Given the description of an element on the screen output the (x, y) to click on. 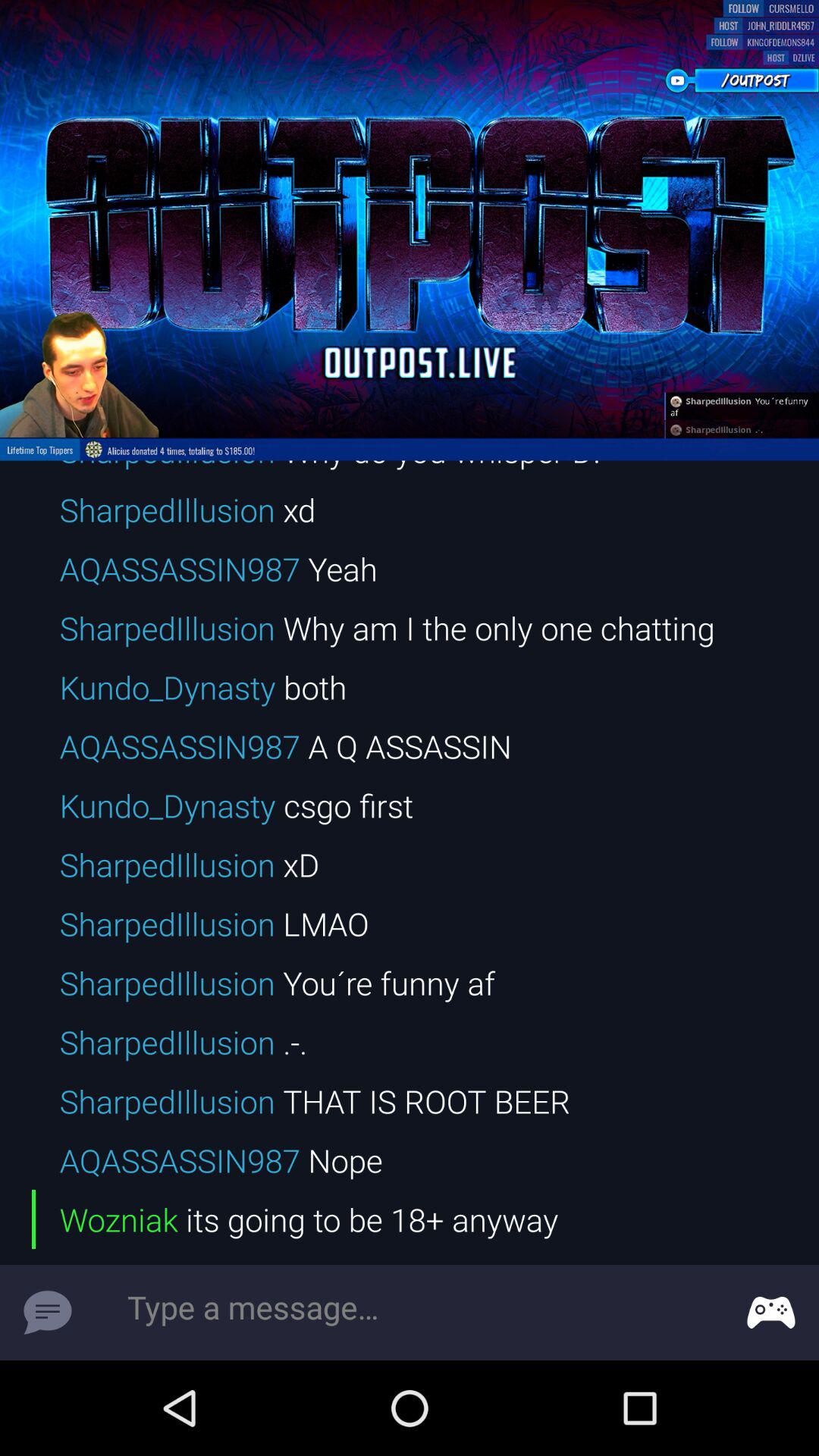
symbol (47, 1312)
